Given the description of an element on the screen output the (x, y) to click on. 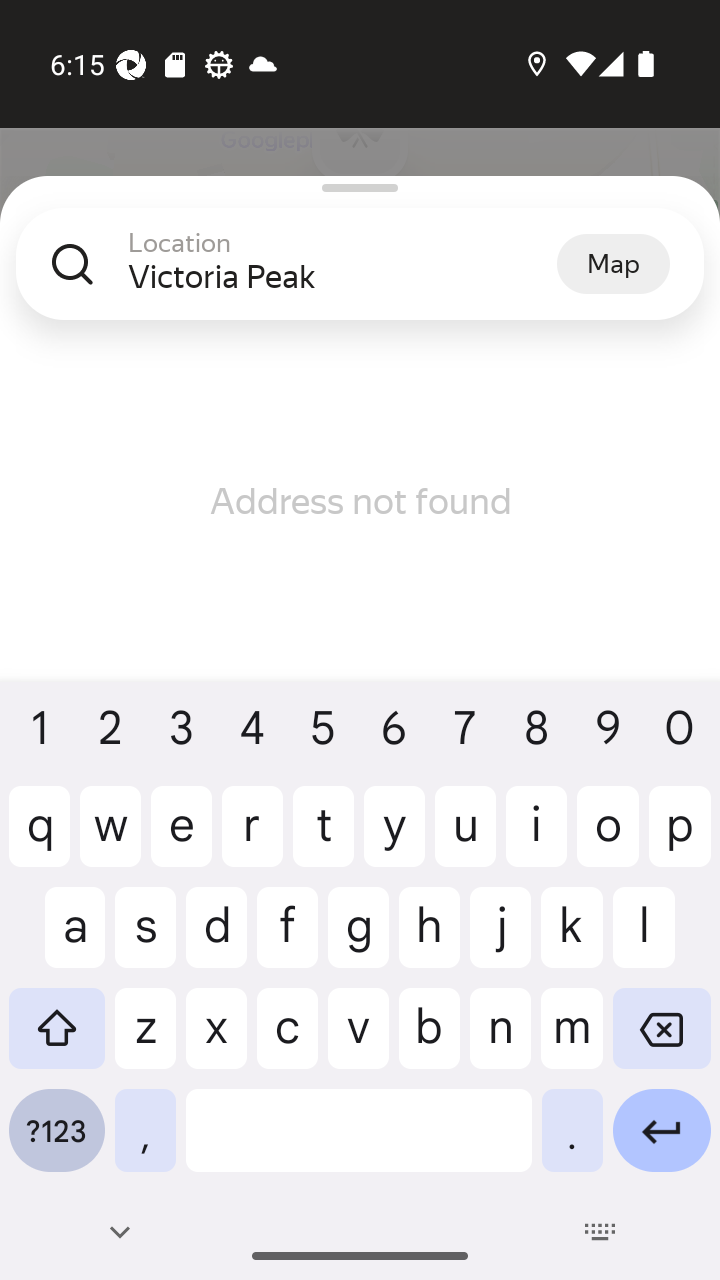
Location Victoria Peak Map (360, 280)
Map (613, 263)
Victoria Peak (341, 276)
